Given the description of an element on the screen output the (x, y) to click on. 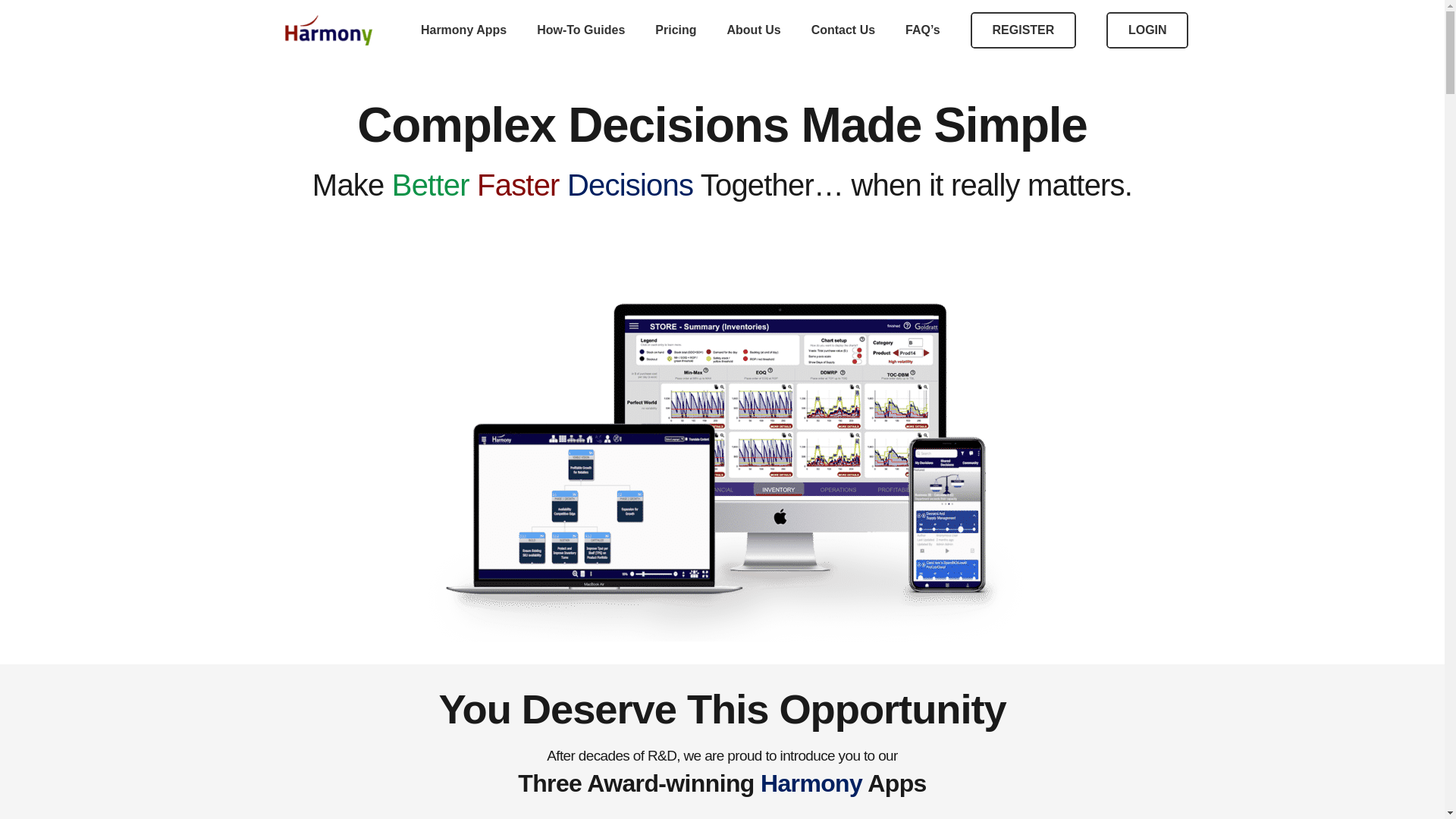
Pricing (675, 30)
LOGIN (1147, 30)
REGISTER (1023, 30)
Contact Us (842, 30)
About Us (753, 30)
How-To Guides (580, 30)
Harmony Apps (463, 30)
